Given the description of an element on the screen output the (x, y) to click on. 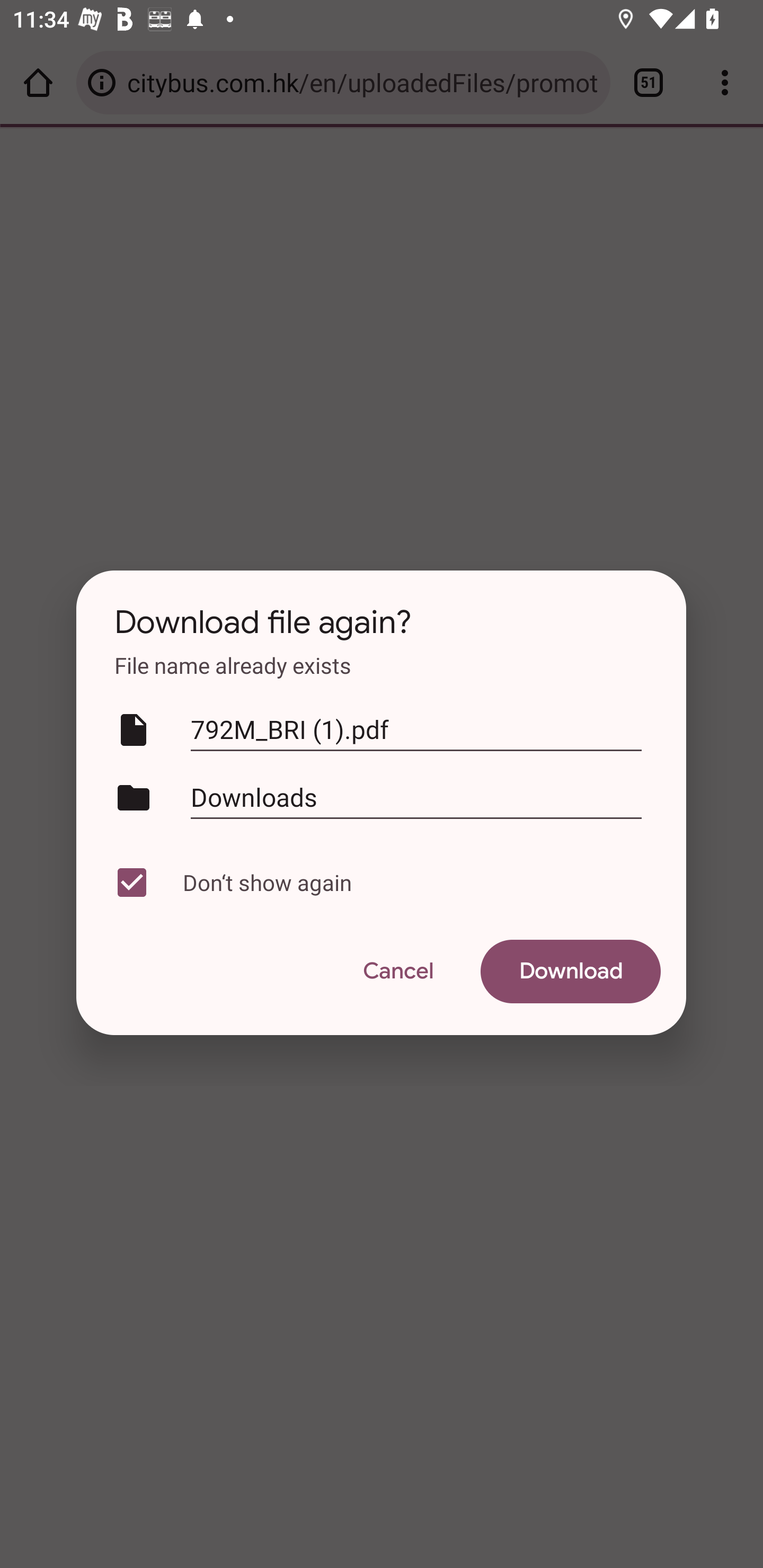
792M_BRI (1).pdf (415, 729)
Downloads (415, 797)
Don‘t show again (376, 882)
Cancel (397, 970)
Download (570, 970)
